Given the description of an element on the screen output the (x, y) to click on. 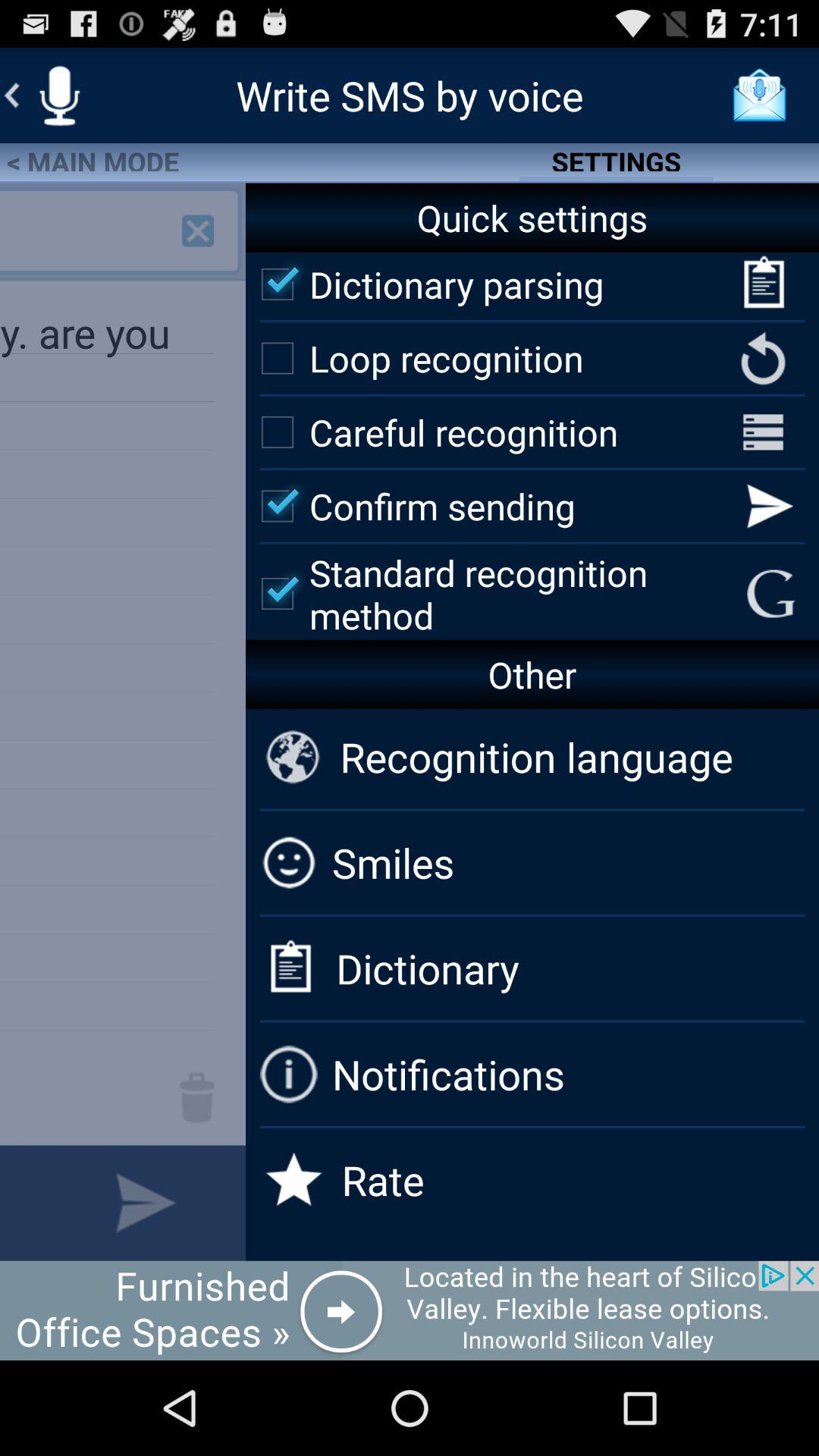
sms (59, 95)
